Given the description of an element on the screen output the (x, y) to click on. 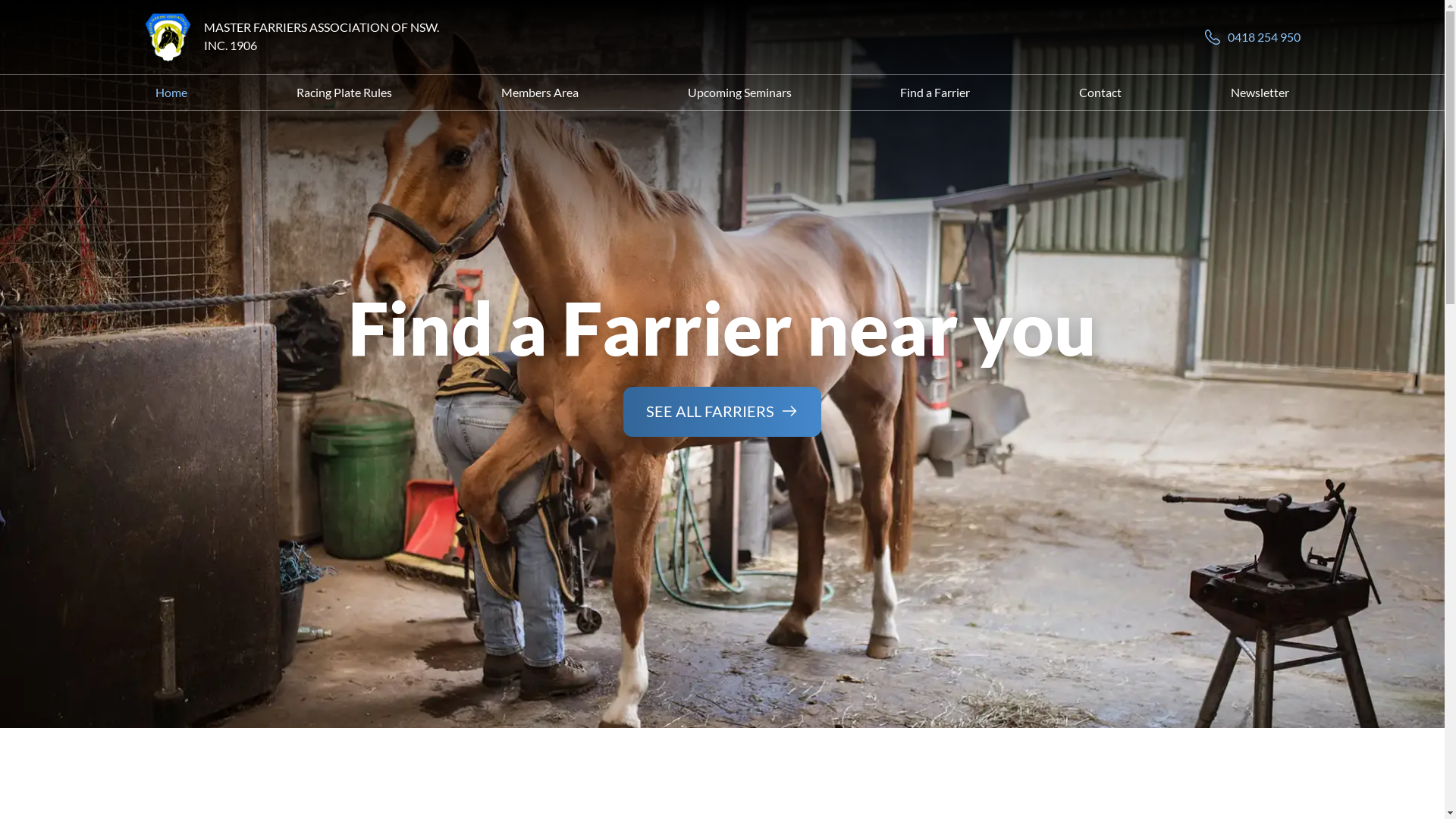
Home Element type: text (170, 92)
Upcoming Seminars Element type: text (739, 92)
0418 254 950 Element type: text (1251, 37)
Racing Plate Rules Element type: text (343, 92)
Newsletter Element type: text (1259, 92)
MASTER FARRIERS ASSOCIATION OF NSW. INC. 1906 Element type: text (321, 35)
SEE ALL FARRIERS Element type: text (722, 411)
Members Area Element type: text (539, 92)
Contact Element type: text (1100, 92)
Find a Farrier Element type: text (934, 92)
